Given the description of an element on the screen output the (x, y) to click on. 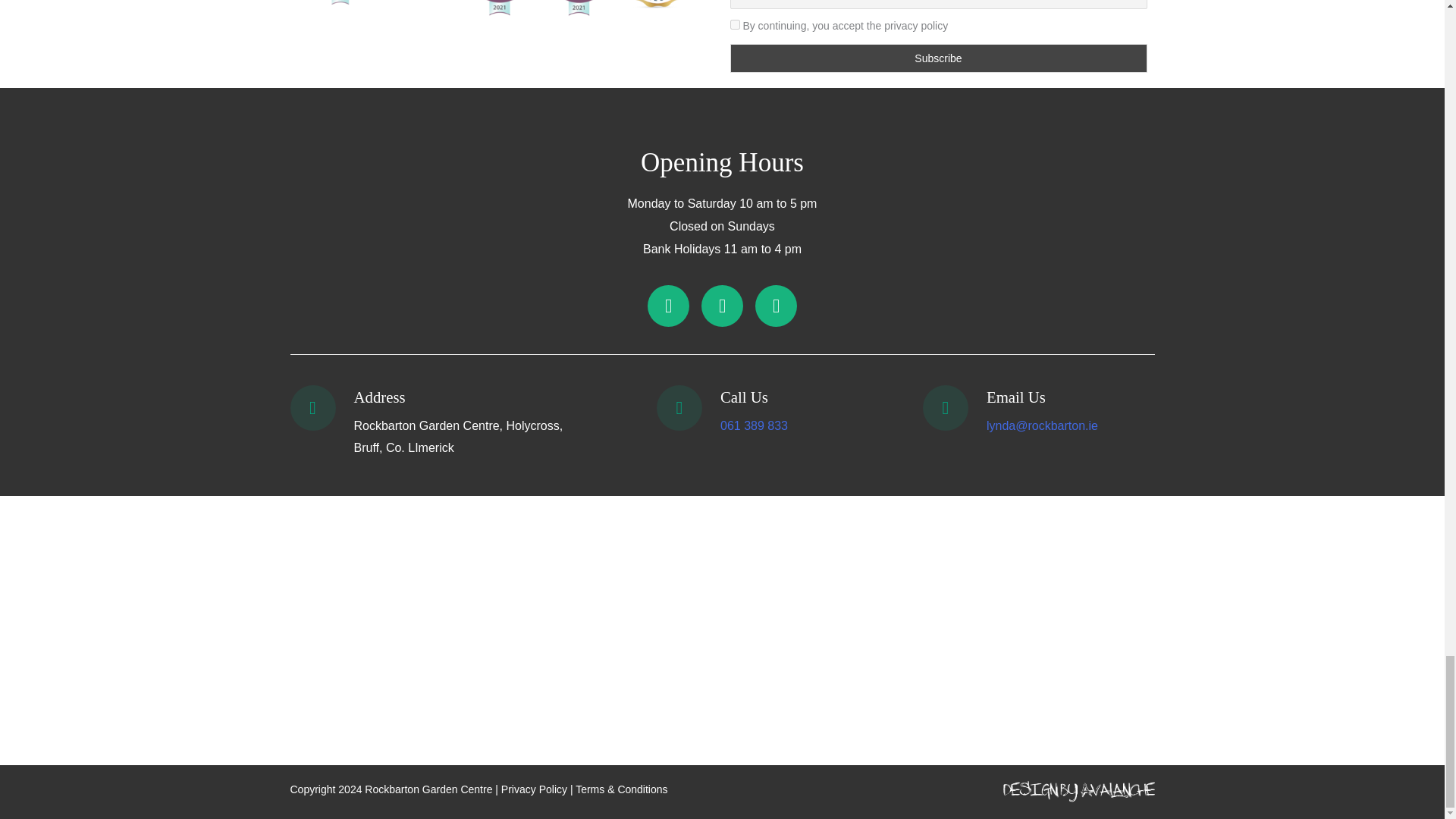
Privacy Policy (533, 788)
Call Us (744, 396)
Created by Avalanche (1078, 791)
061 389 833 (753, 425)
Email Us (1016, 396)
Subscribe (938, 58)
on (734, 24)
Subscribe (938, 58)
